Given the description of an element on the screen output the (x, y) to click on. 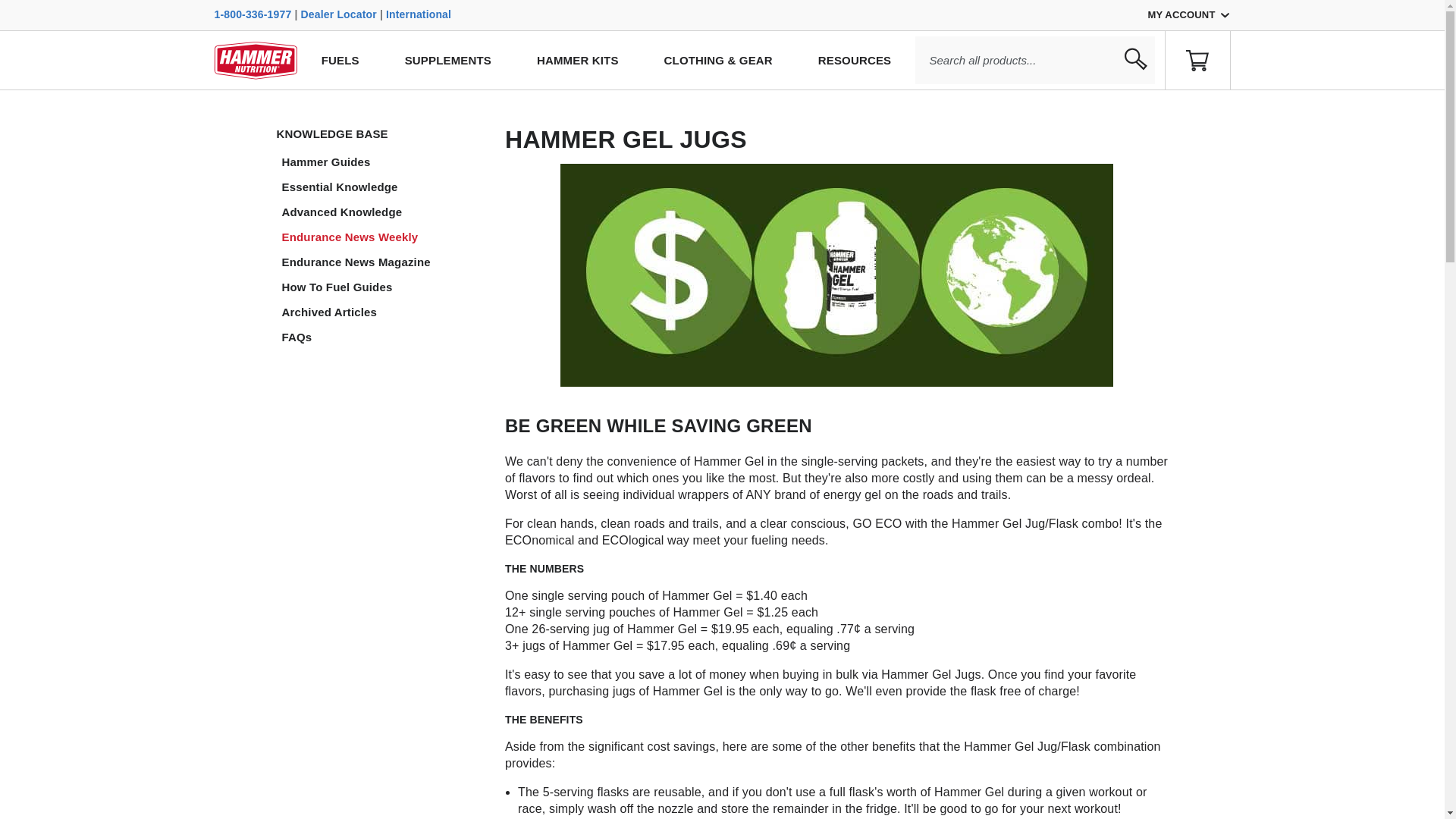
International Distributors (418, 14)
Endurance News Magazine (382, 261)
Hammer Guides (382, 161)
SKIP TO CONTENT (81, 105)
Endurance News Weekly (382, 236)
Dealer Locator (339, 14)
FAQs (382, 336)
Dealer Locator (339, 14)
SUPPLEMENTS (447, 60)
Site Logo (255, 59)
